Given the description of an element on the screen output the (x, y) to click on. 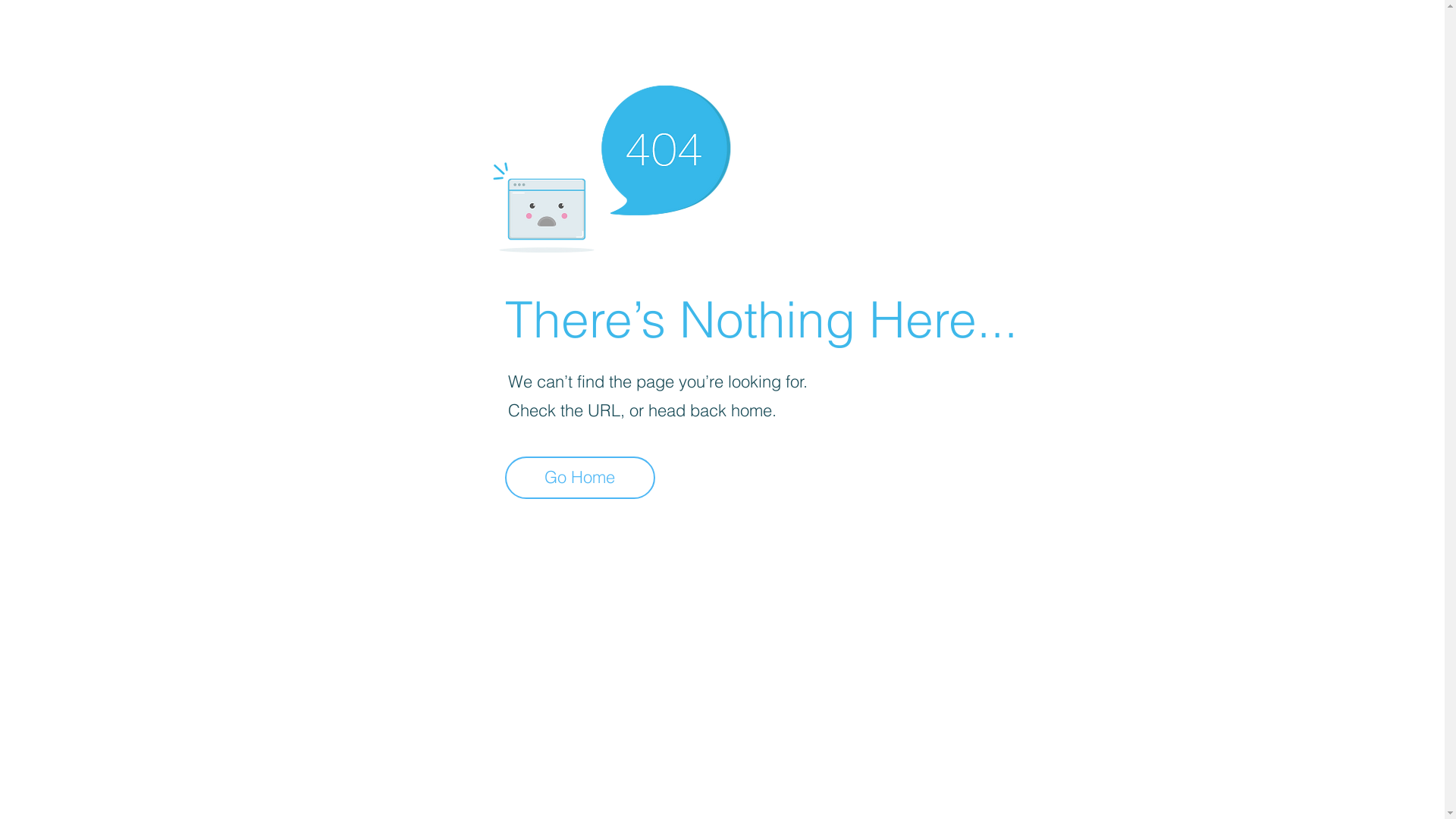
404-icon_2.png Element type: hover (610, 164)
Go Home Element type: text (580, 477)
